Given the description of an element on the screen output the (x, y) to click on. 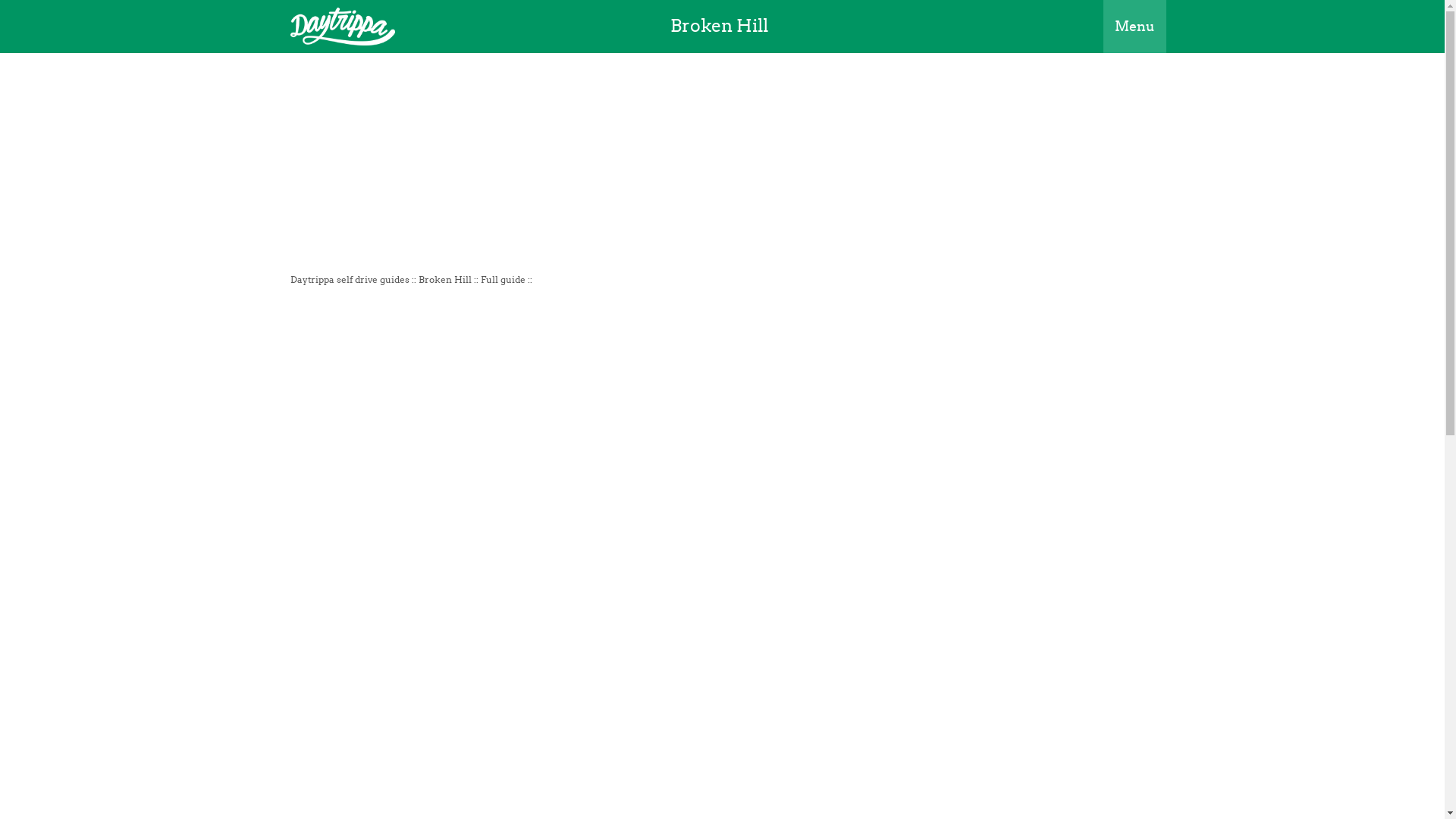
Broken Hill Element type: text (444, 279)
Daytrippa self drive guides Element type: text (348, 279)
Full guide Element type: text (502, 279)
Broken Hill Element type: text (719, 25)
Menu Element type: text (1133, 26)
Daytrippa Element type: hover (342, 26)
